Given the description of an element on the screen output the (x, y) to click on. 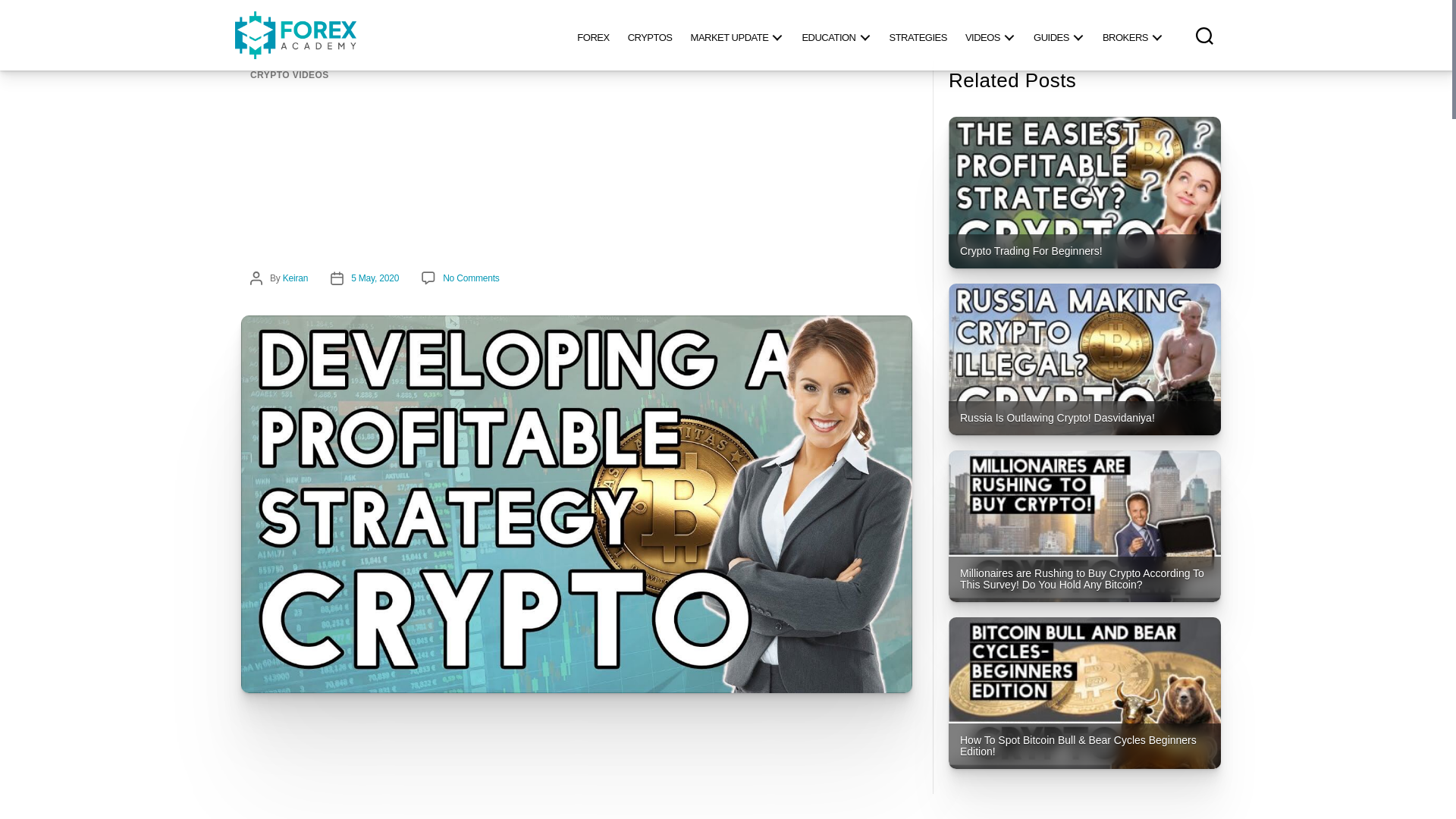
Crypto Trading For Beginners! (1085, 192)
VIDEOS (990, 35)
MARKET UPDATE (737, 35)
STRATEGIES (917, 35)
BROKERS (1132, 35)
FOREX (592, 35)
GUIDES (1059, 35)
CRYPTOS (649, 35)
EDUCATION (835, 35)
Russia Is Outlawing Crypto! Dasvidaniya! (1085, 358)
